Given the description of an element on the screen output the (x, y) to click on. 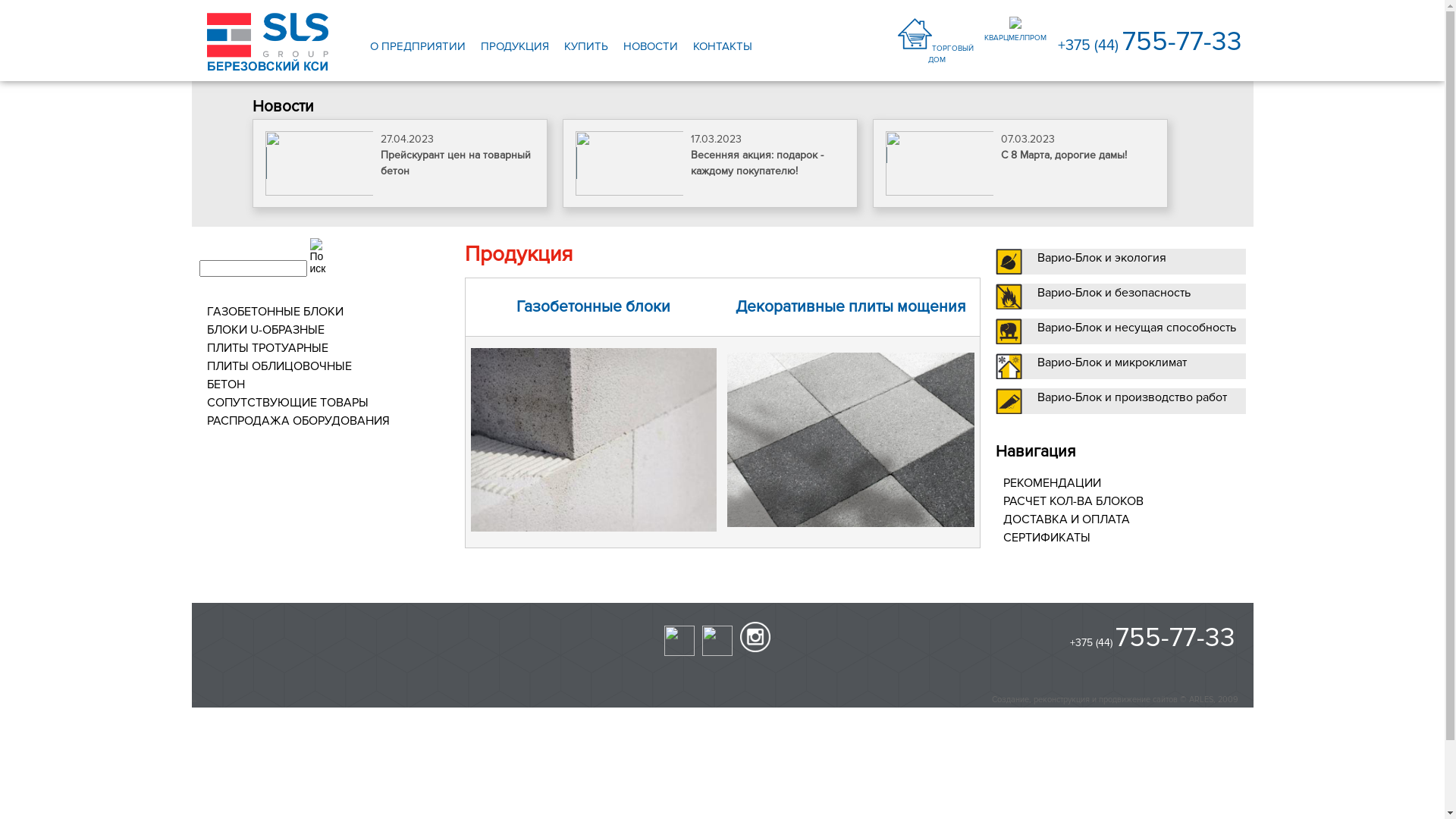
>> Element type: text (193, 701)
